Given the description of an element on the screen output the (x, y) to click on. 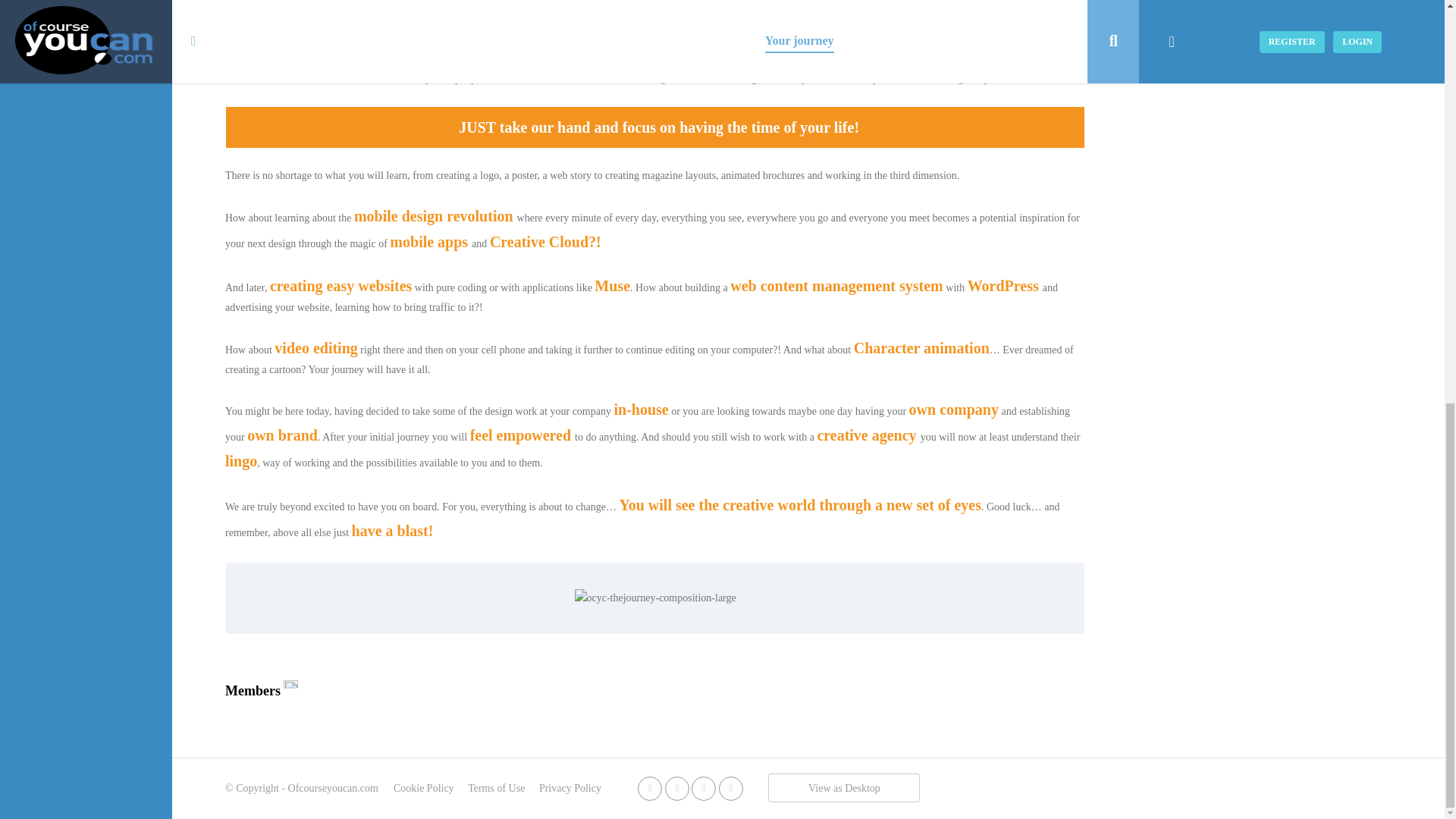
ocyc-thejourney-composition-large (655, 597)
instagram (730, 787)
twitter (676, 787)
facebook (649, 787)
View as Desktop (844, 787)
linkedin (703, 787)
